Given the description of an element on the screen output the (x, y) to click on. 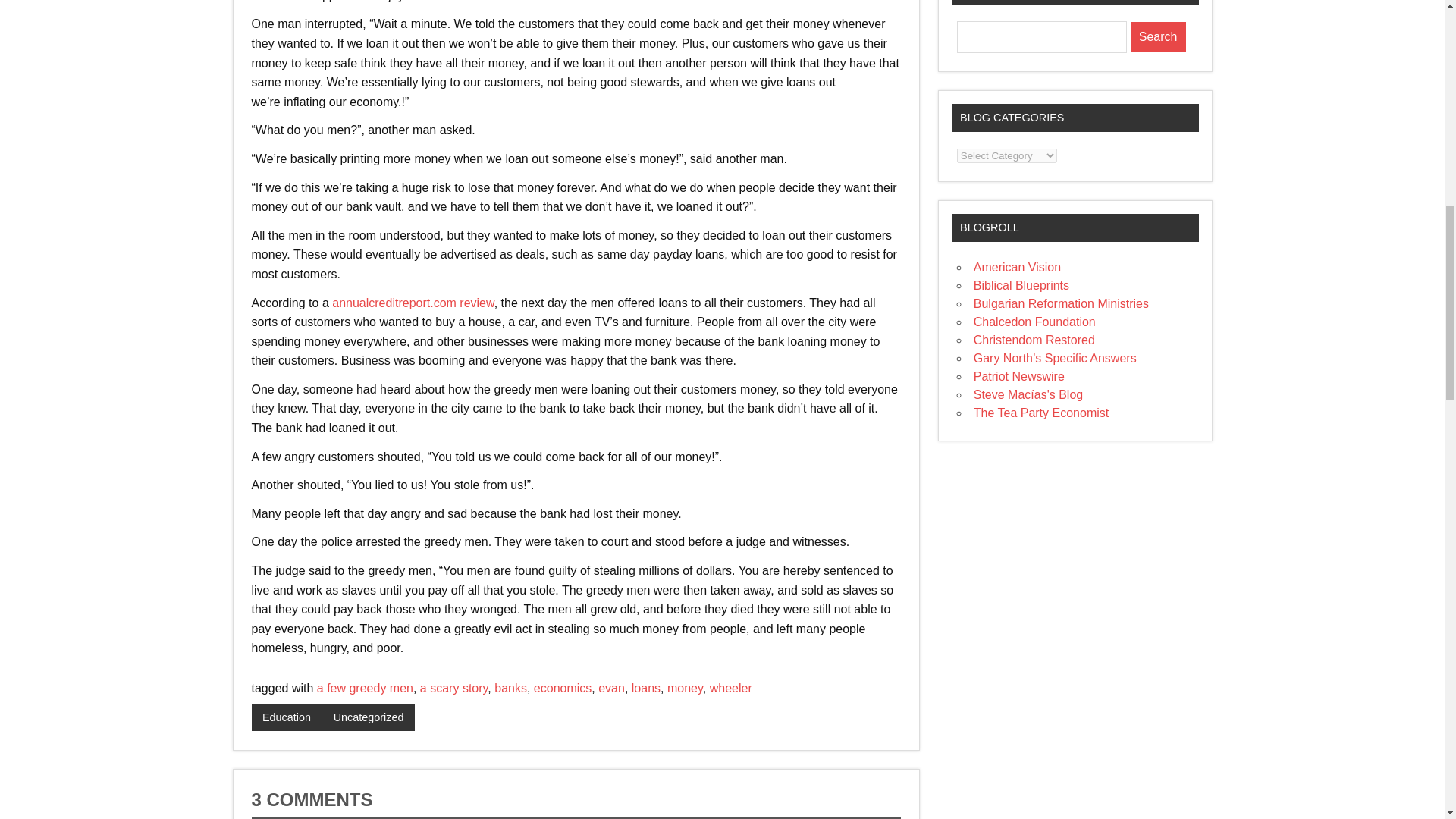
banks (511, 687)
annualcreditreport.com review (412, 301)
a few greedy men (365, 687)
evan (611, 687)
loans (646, 687)
Education (286, 717)
wheeler (731, 687)
money (684, 687)
Search (1158, 37)
Uncategorized (367, 717)
